Given the description of an element on the screen output the (x, y) to click on. 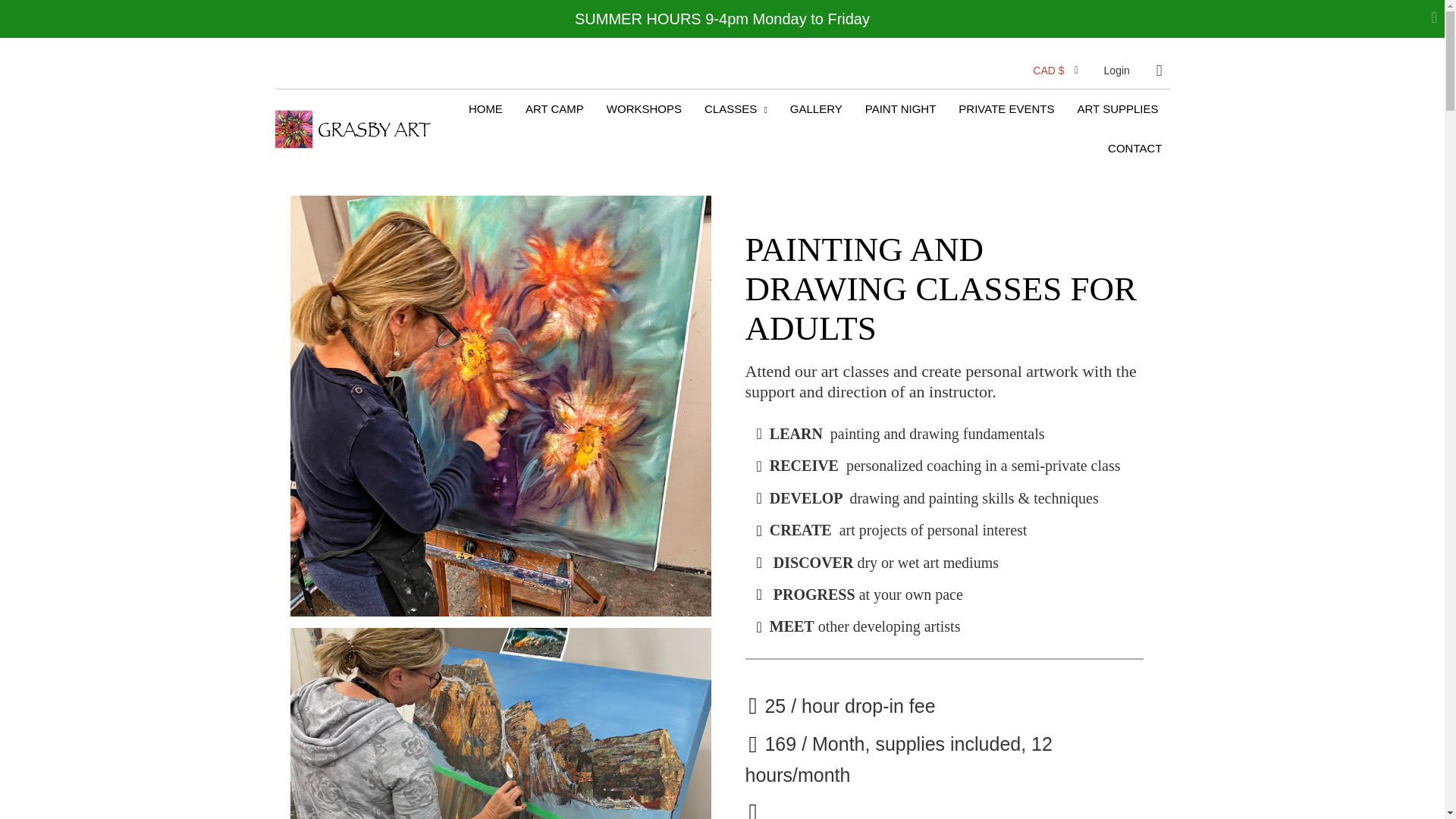
AZN (1060, 343)
CNY (1060, 806)
BOB (1060, 576)
BSD (1060, 610)
My Account  (1116, 70)
BIF (1060, 510)
BWP (1060, 643)
BAM (1060, 376)
CHF (1060, 776)
AUD (1060, 276)
